Given the description of an element on the screen output the (x, y) to click on. 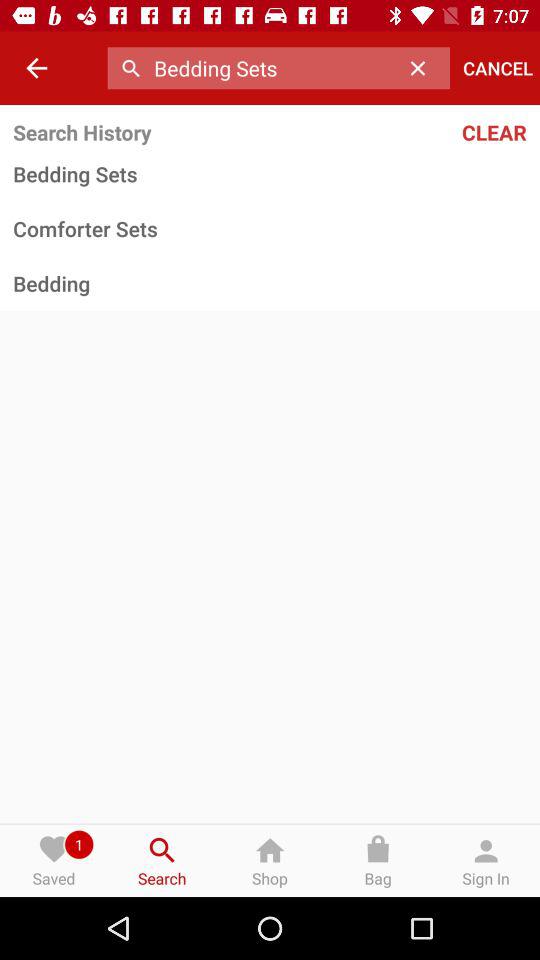
choose icon below the cancel item (449, 132)
